Given the description of an element on the screen output the (x, y) to click on. 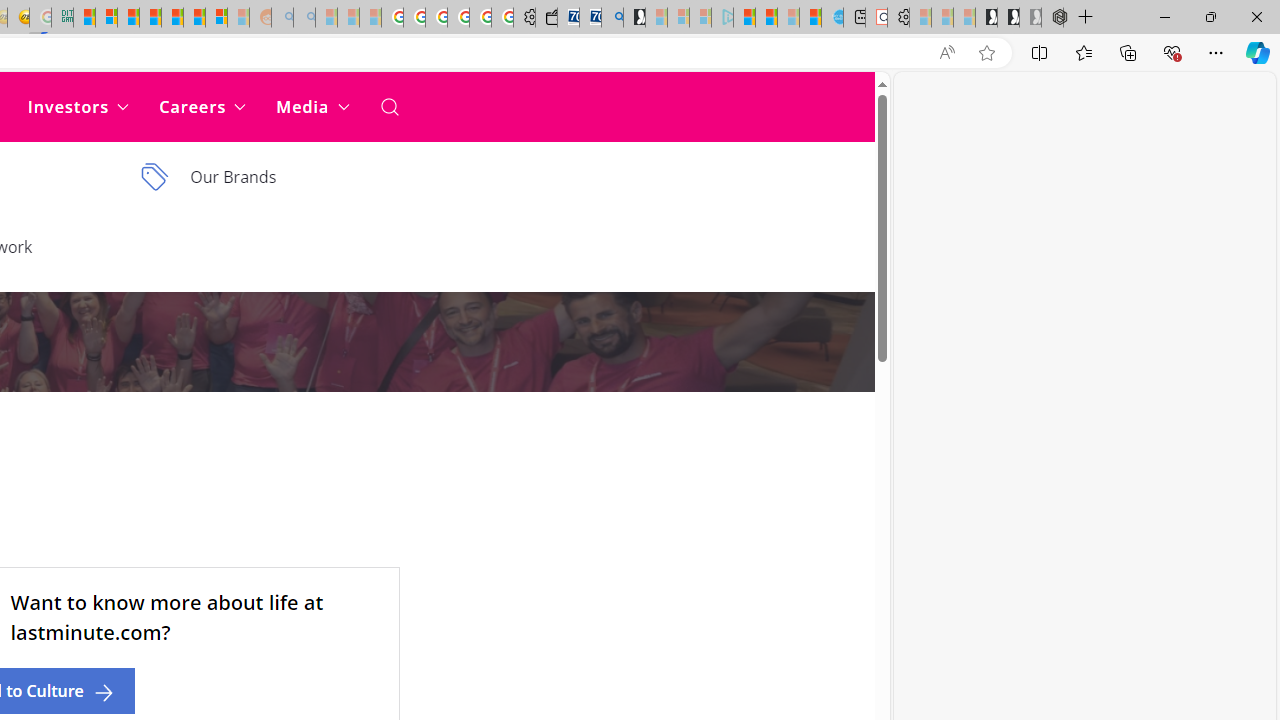
Microsoft account | Privacy (106, 17)
Investors (78, 106)
Cheap Car Rentals - Save70.com (590, 17)
Wallet (546, 17)
Media (312, 106)
MSNBC - MSN (84, 17)
Media (312, 106)
